Given the description of an element on the screen output the (x, y) to click on. 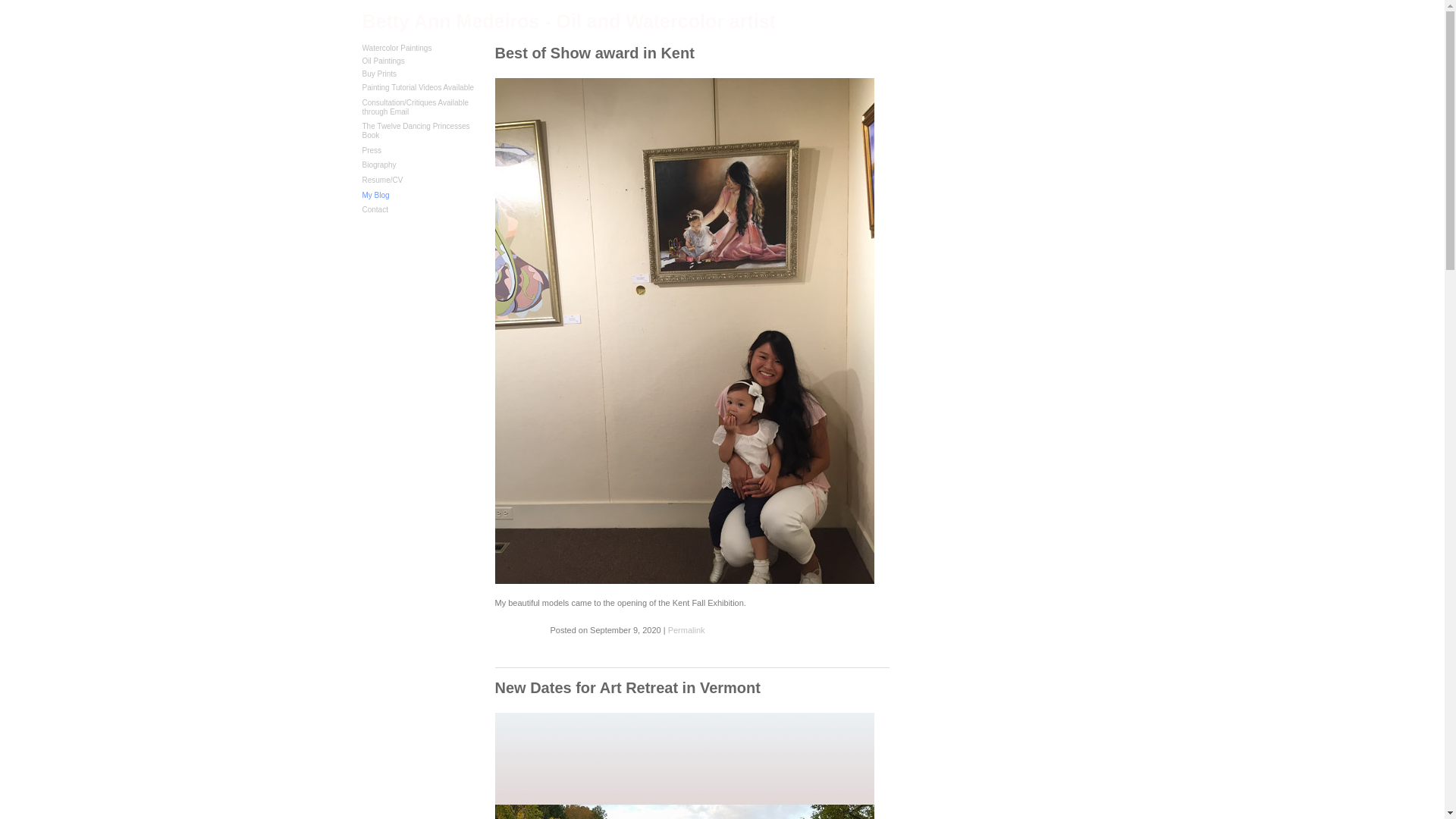
Contact (375, 209)
Press (371, 150)
Permalink (686, 629)
The Twelve Dancing Princesses Book (416, 130)
Painting Tutorial Videos Available (418, 87)
Betty Ann Medeiros - Oil and Watercolor artist (569, 20)
Biography (379, 164)
New Dates for Art Retreat in Vermont (627, 687)
Best of Show award in Kent (594, 52)
My Blog (376, 194)
